Given the description of an element on the screen output the (x, y) to click on. 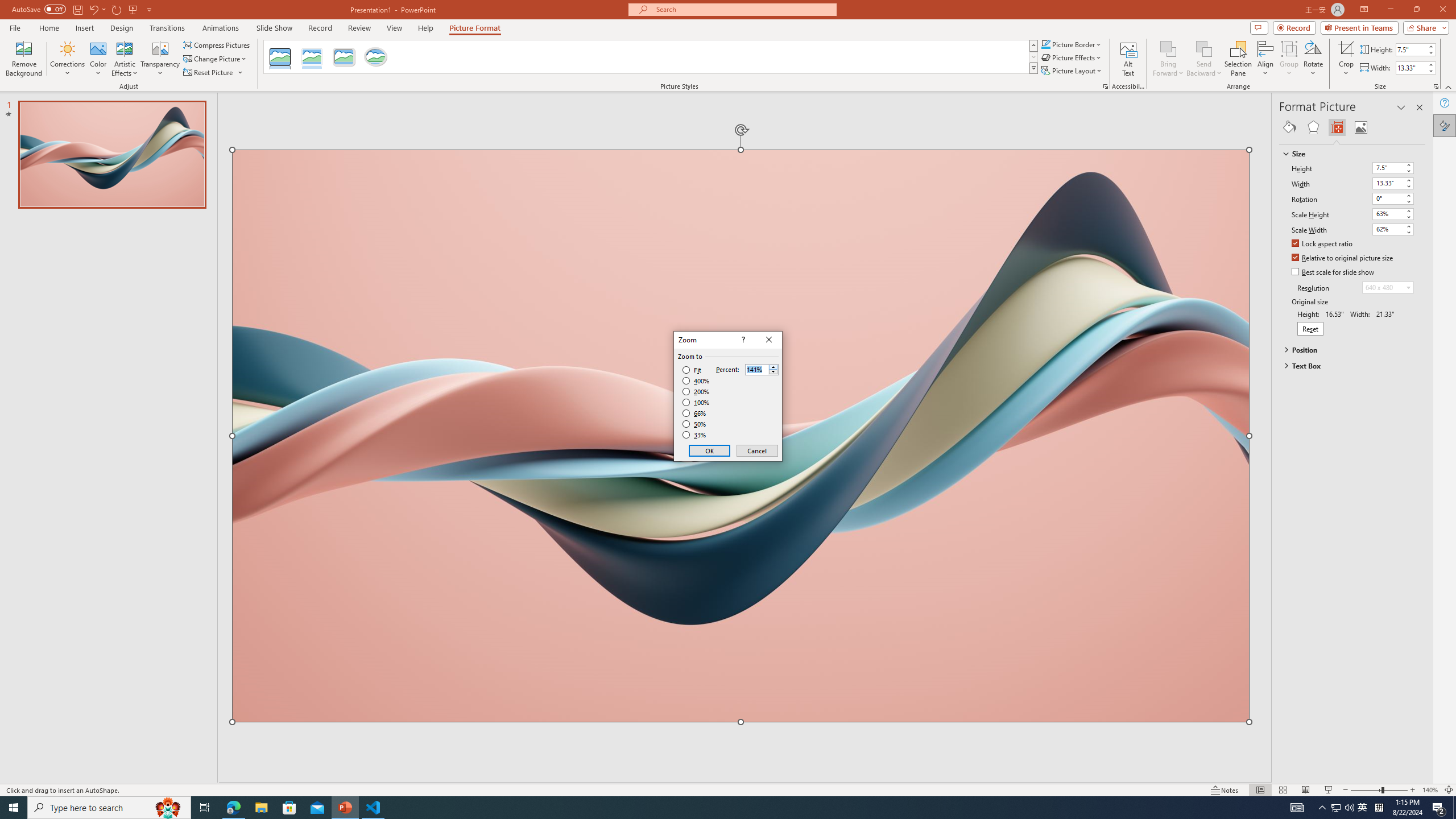
Rotation (1393, 198)
Scale Width (1388, 229)
Percent (756, 369)
Selection Pane... (1238, 58)
Change Picture (216, 58)
Size & Properties (1336, 126)
Class: NetUIGalleryContainer (1352, 126)
